Given the description of an element on the screen output the (x, y) to click on. 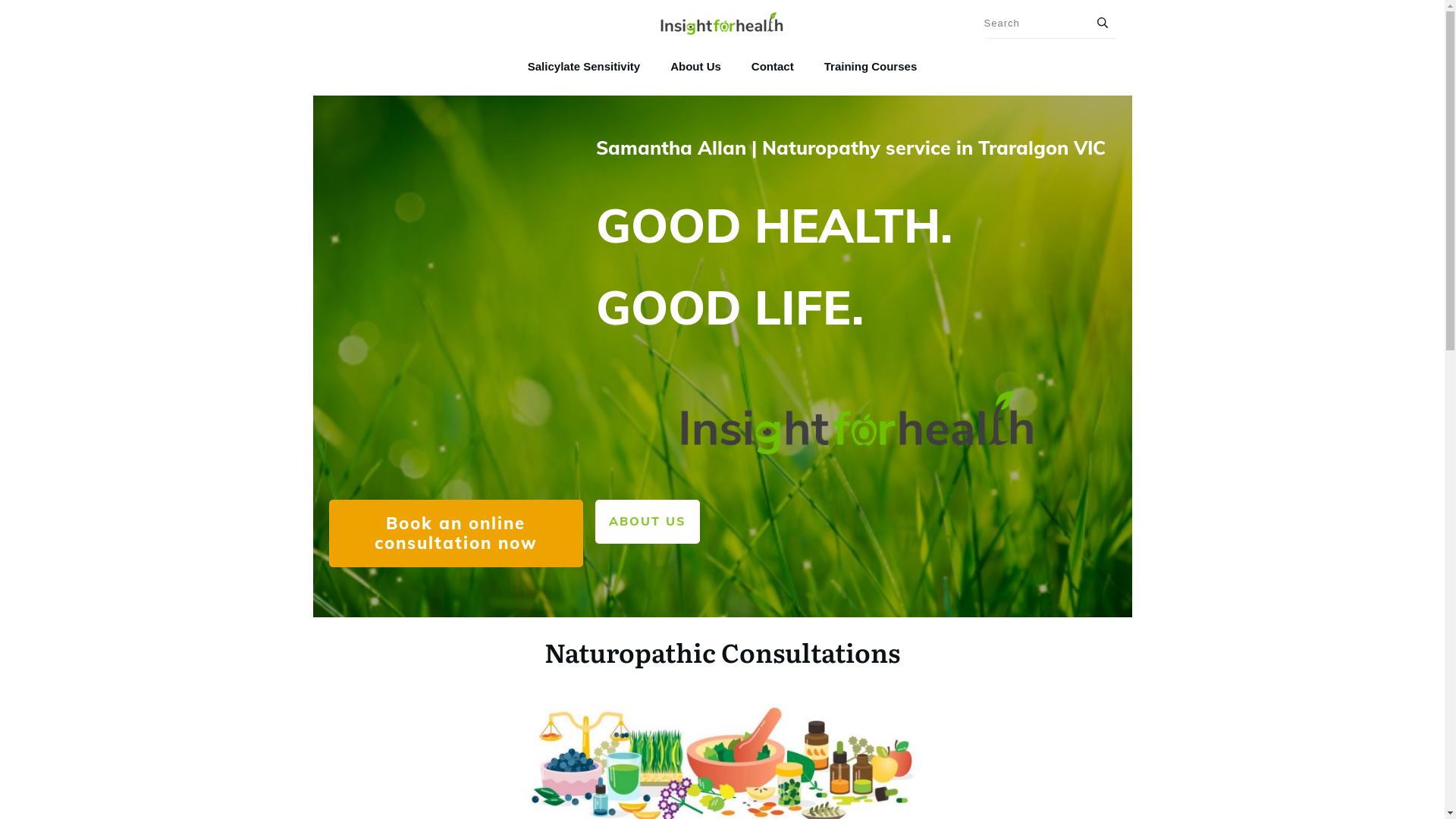
Contact Element type: text (772, 66)
Book an online consultation now Element type: text (456, 533)
ABOUT US Element type: text (646, 521)
About Us Element type: text (695, 66)
insightforhealthalphalogo Element type: hover (855, 418)
Salicylate Sensitivity Element type: text (583, 66)
Training Courses Element type: text (870, 66)
